Given the description of an element on the screen output the (x, y) to click on. 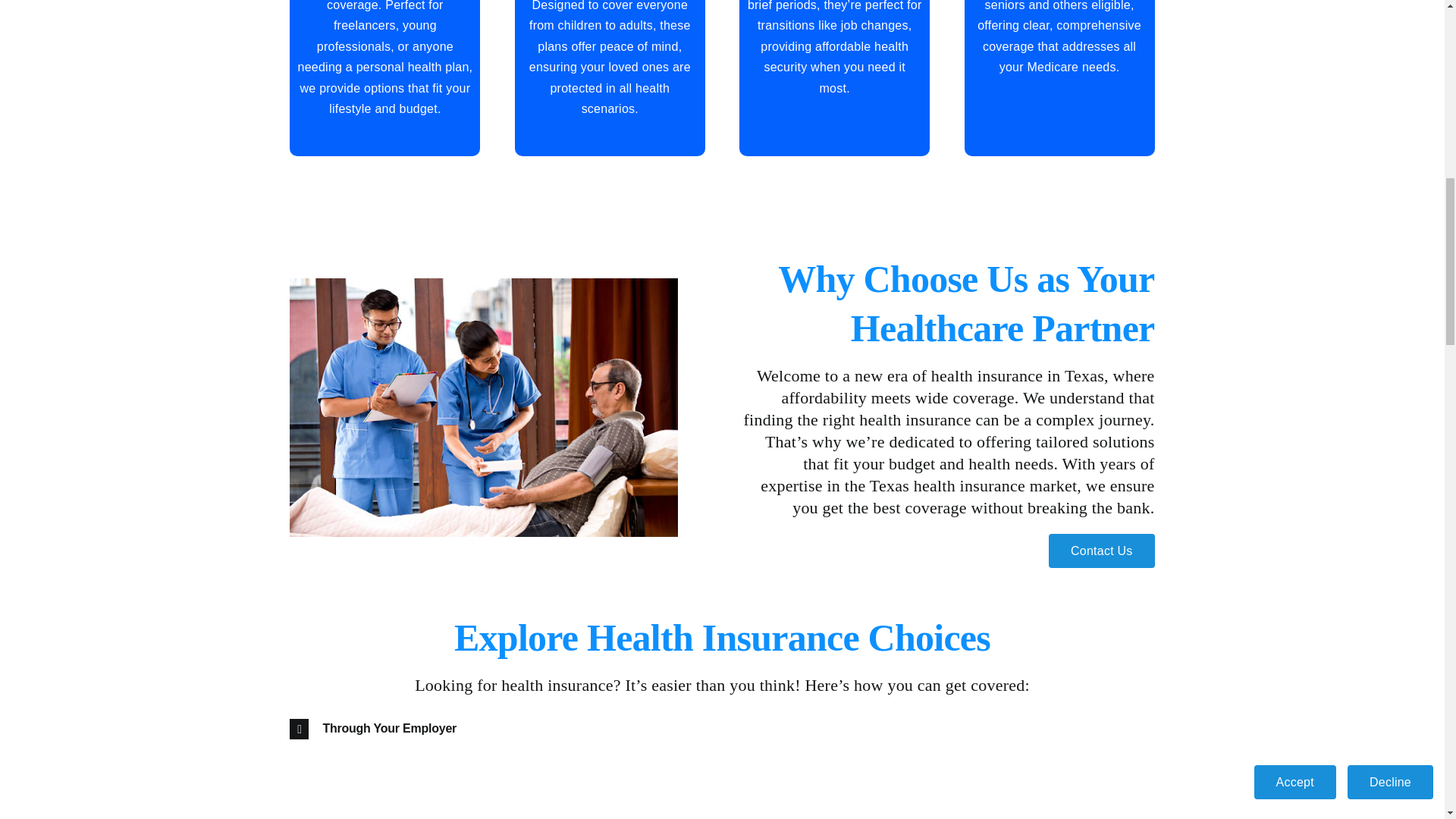
young-doctor-white-coat-working-with-application-s (946, 765)
unnamed-2024-01-09T152813832 (483, 407)
